Given the description of an element on the screen output the (x, y) to click on. 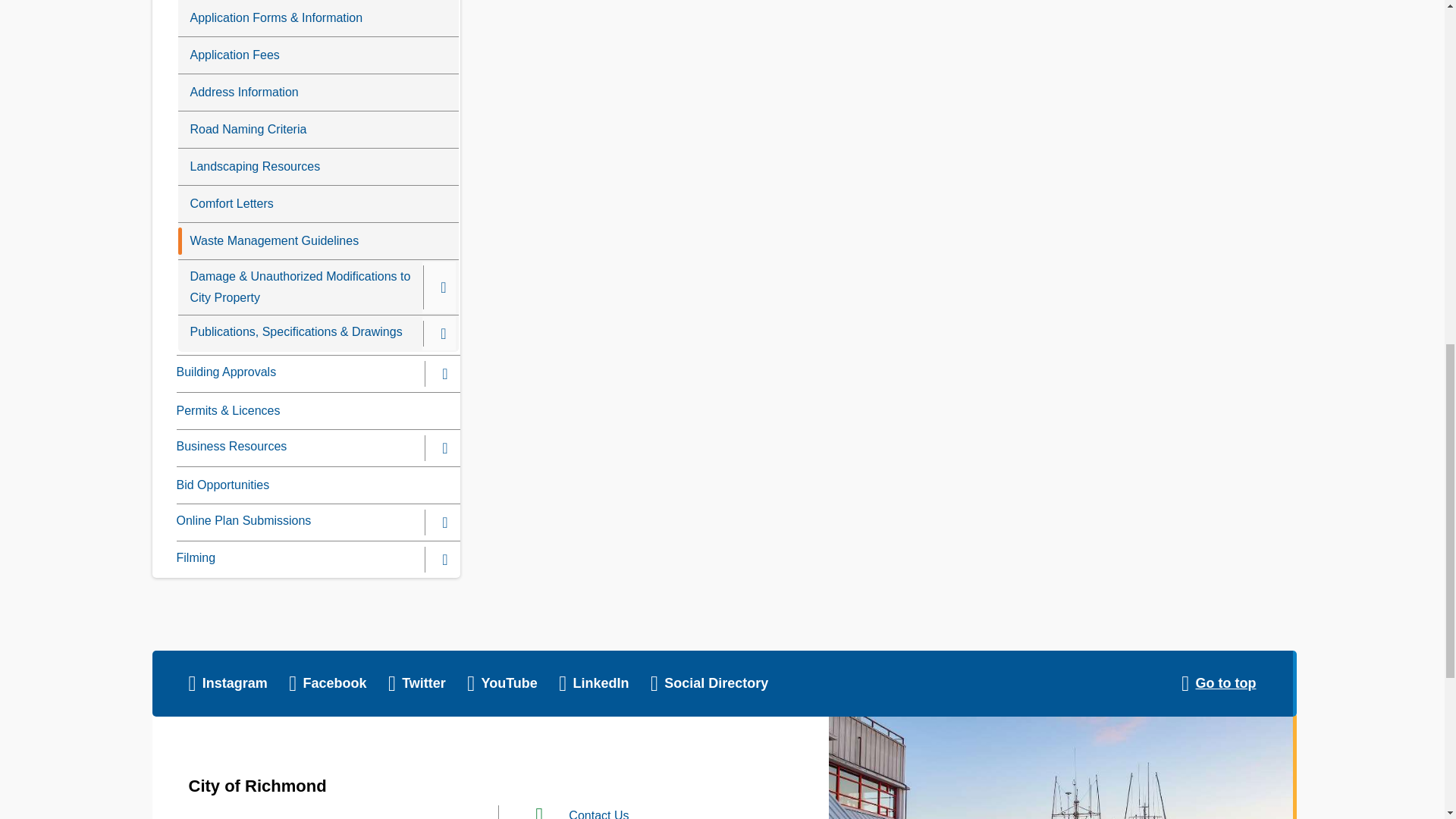
Contact Us (598, 814)
